Given the description of an element on the screen output the (x, y) to click on. 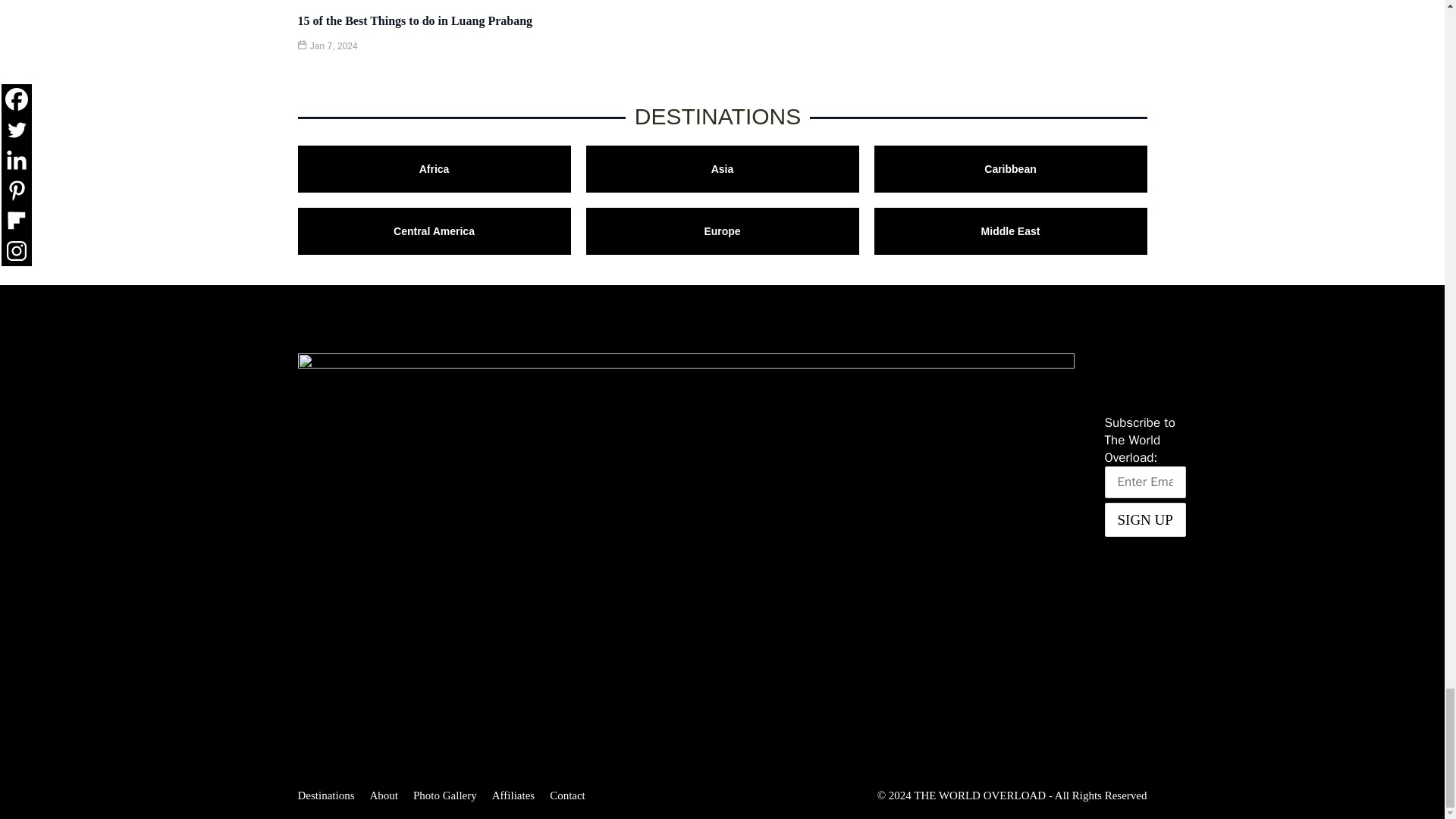
Sign up (1144, 519)
